Given the description of an element on the screen output the (x, y) to click on. 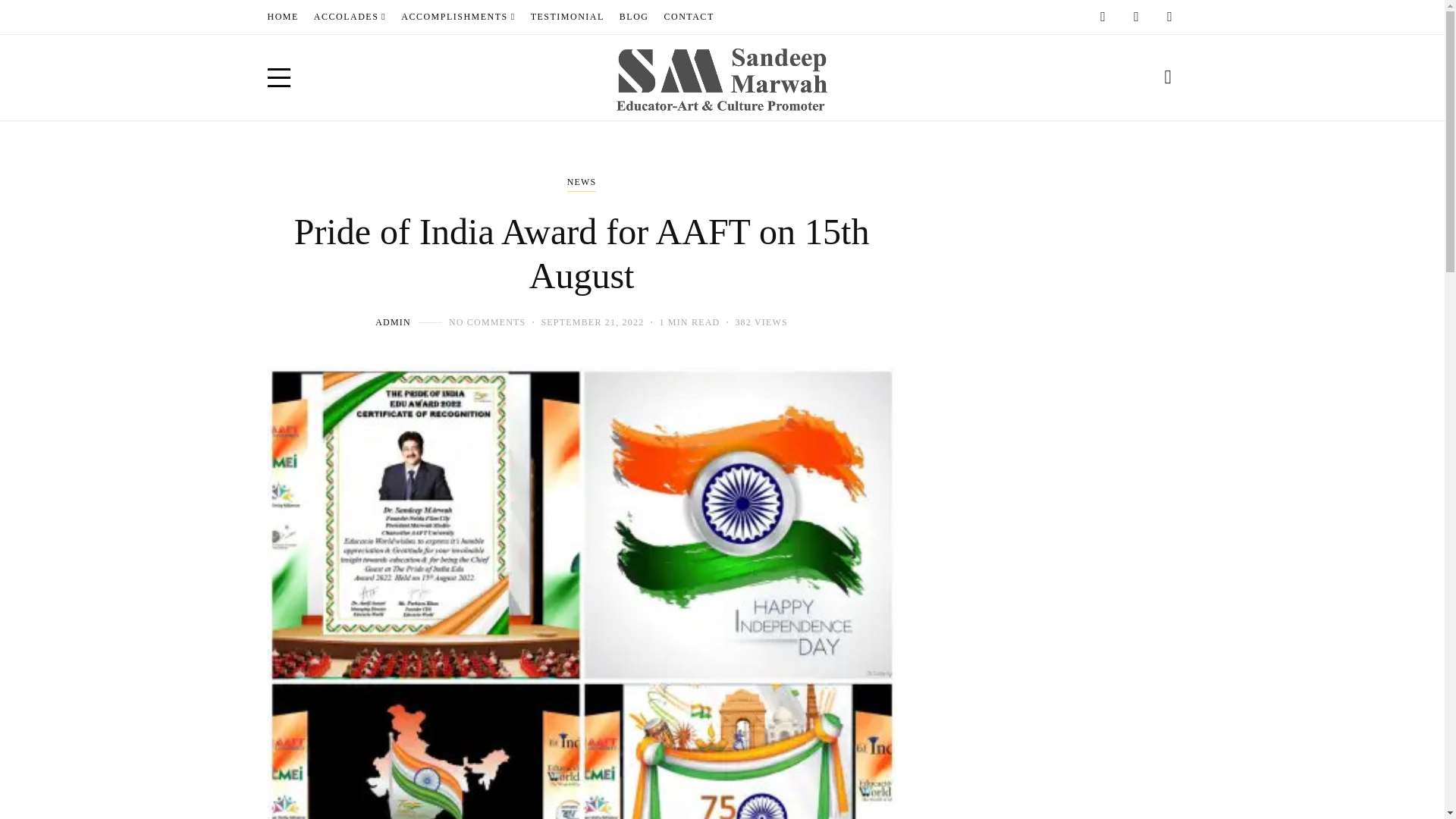
Instagram (1135, 16)
Facebook (1102, 16)
BLOG (633, 17)
Categories (581, 183)
HOME (282, 17)
CONTACT (689, 17)
ACCOMPLISHMENTS (457, 17)
TESTIMONIAL (566, 17)
Twitter (1169, 16)
